Given the description of an element on the screen output the (x, y) to click on. 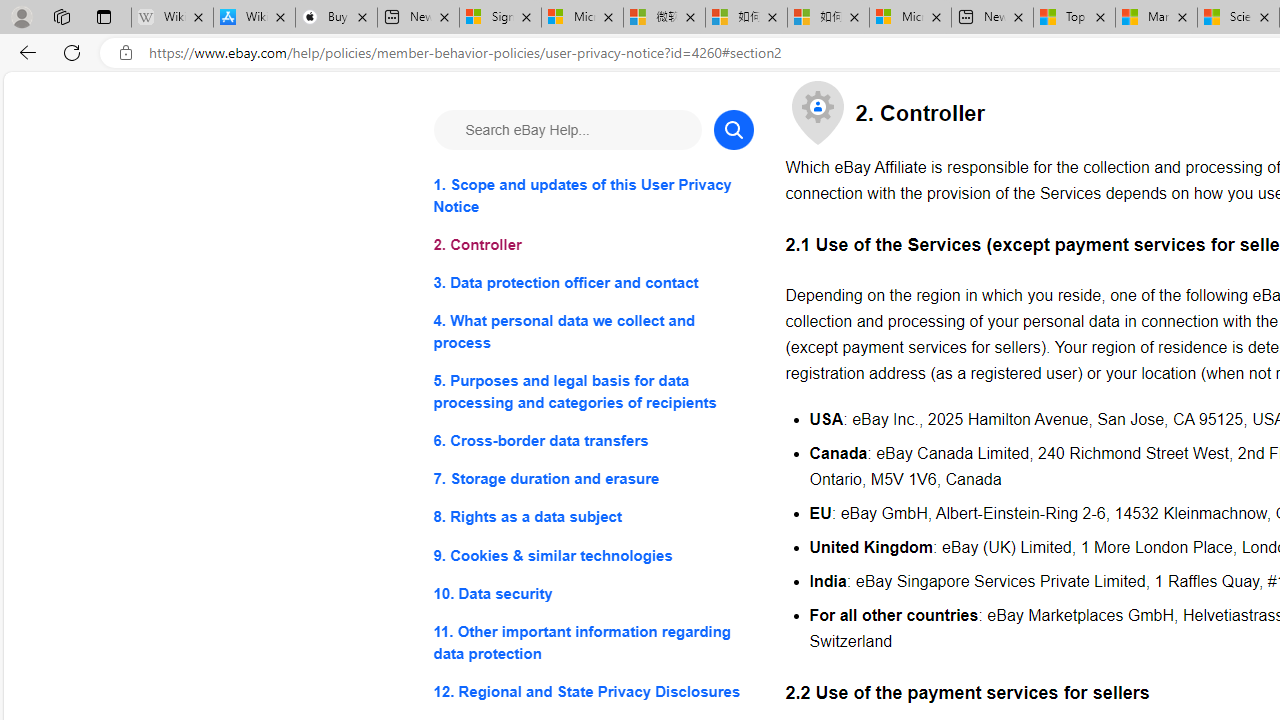
6. Cross-border data transfers (592, 440)
Wikipedia - Sleeping (171, 17)
Tab actions menu (104, 16)
Microsoft account | Account Checkup (910, 17)
Microsoft Services Agreement (582, 17)
1. Scope and updates of this User Privacy Notice (592, 196)
Personal Profile (21, 16)
3. Data protection officer and contact (592, 283)
Refresh (72, 52)
3. Data protection officer and contact (592, 283)
New tab (992, 17)
7. Storage duration and erasure (592, 479)
